Given the description of an element on the screen output the (x, y) to click on. 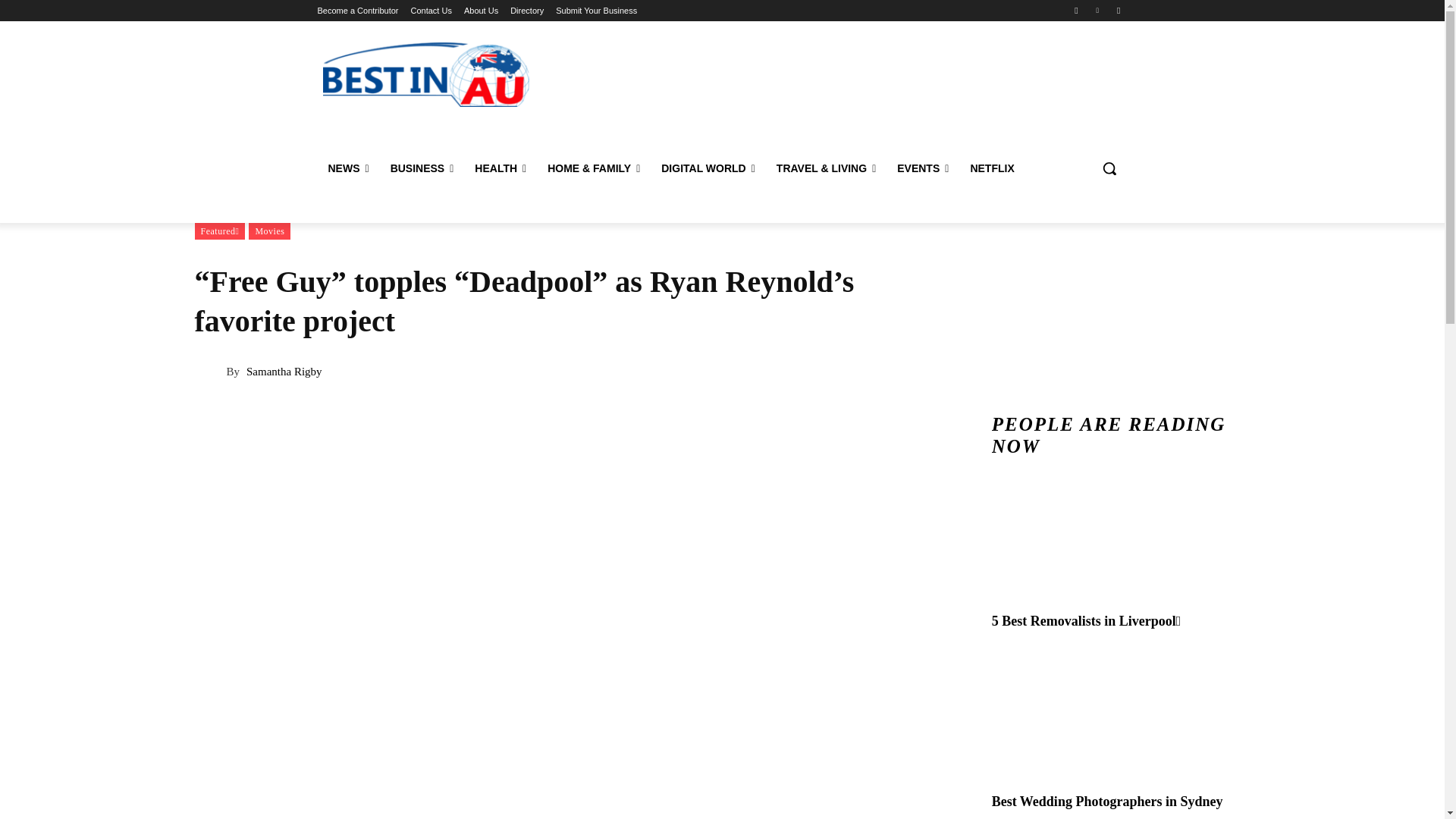
Samantha Rigby (209, 371)
Facebook (1075, 9)
Best in Australia - The Most Researched Information (426, 74)
Linkedin (1097, 9)
Best in Australia - The Most Researched Information (425, 74)
Twitter (1117, 9)
